Given the description of an element on the screen output the (x, y) to click on. 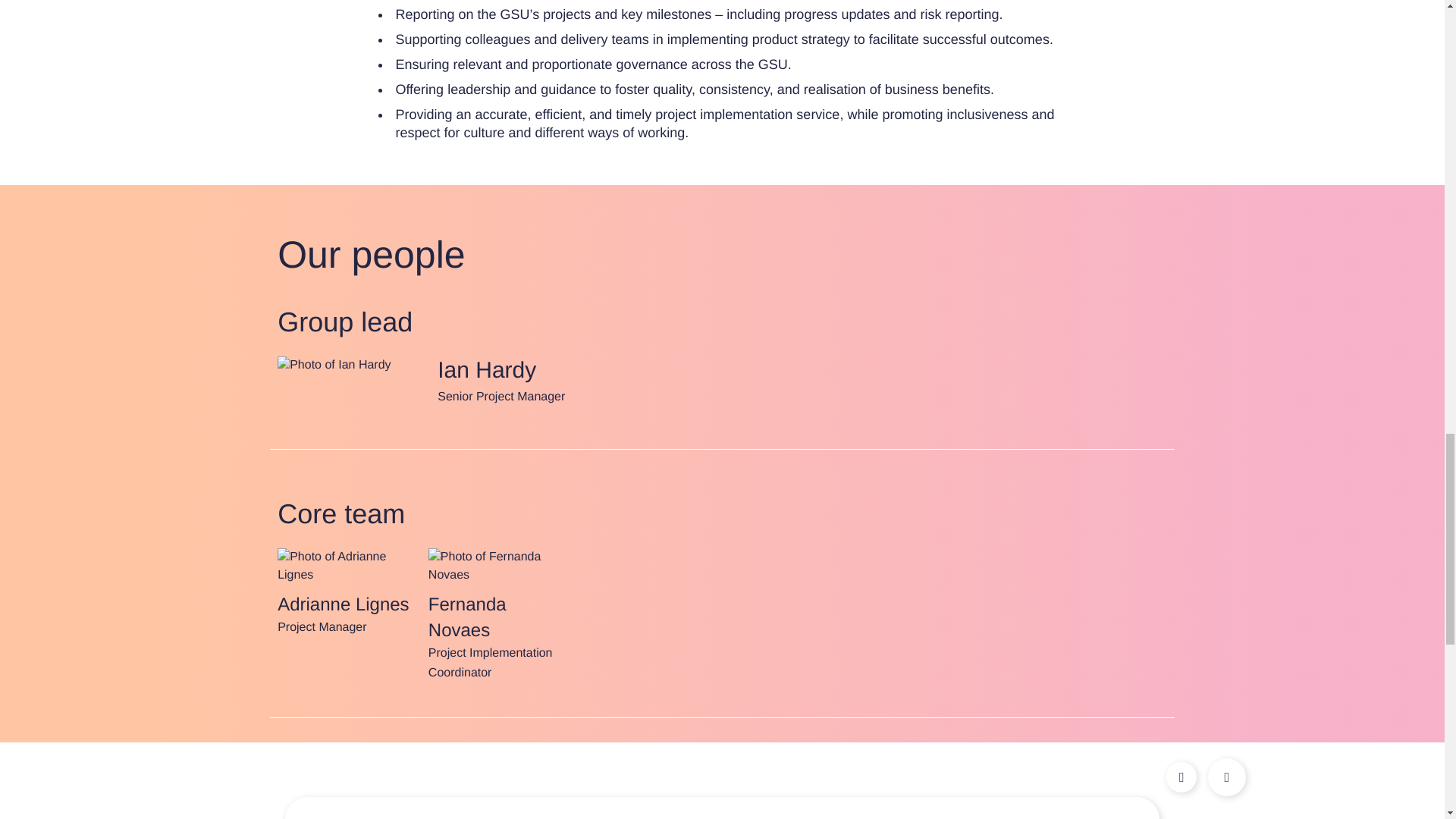
Adrianne Lignes (345, 565)
Fernanda Novaes (496, 565)
Ian Hardy (333, 365)
